Given the description of an element on the screen output the (x, y) to click on. 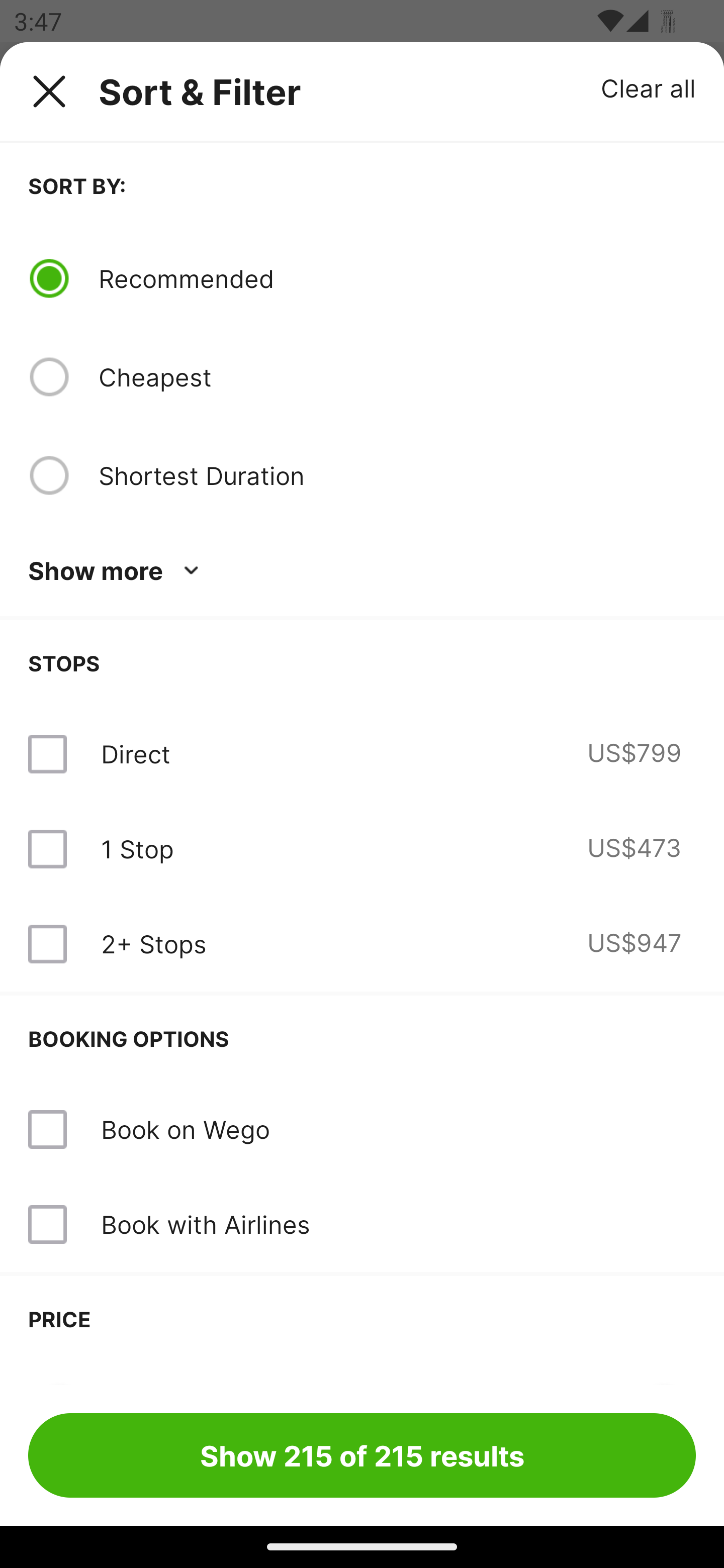
Clear all (648, 87)
Recommended  (396, 278)
Cheapest (396, 377)
Shortest Duration (396, 474)
Show more (116, 570)
Direct US$799 (362, 754)
Direct (135, 753)
1 Stop US$473 (362, 848)
1 Stop (136, 849)
2+ Stops US$947 (362, 943)
2+ Stops (153, 943)
Book on Wego (362, 1129)
Book on Wego (184, 1128)
Book with Airlines (362, 1224)
Book with Airlines (204, 1224)
Show 215 of 215 results (361, 1454)
